Given the description of an element on the screen output the (x, y) to click on. 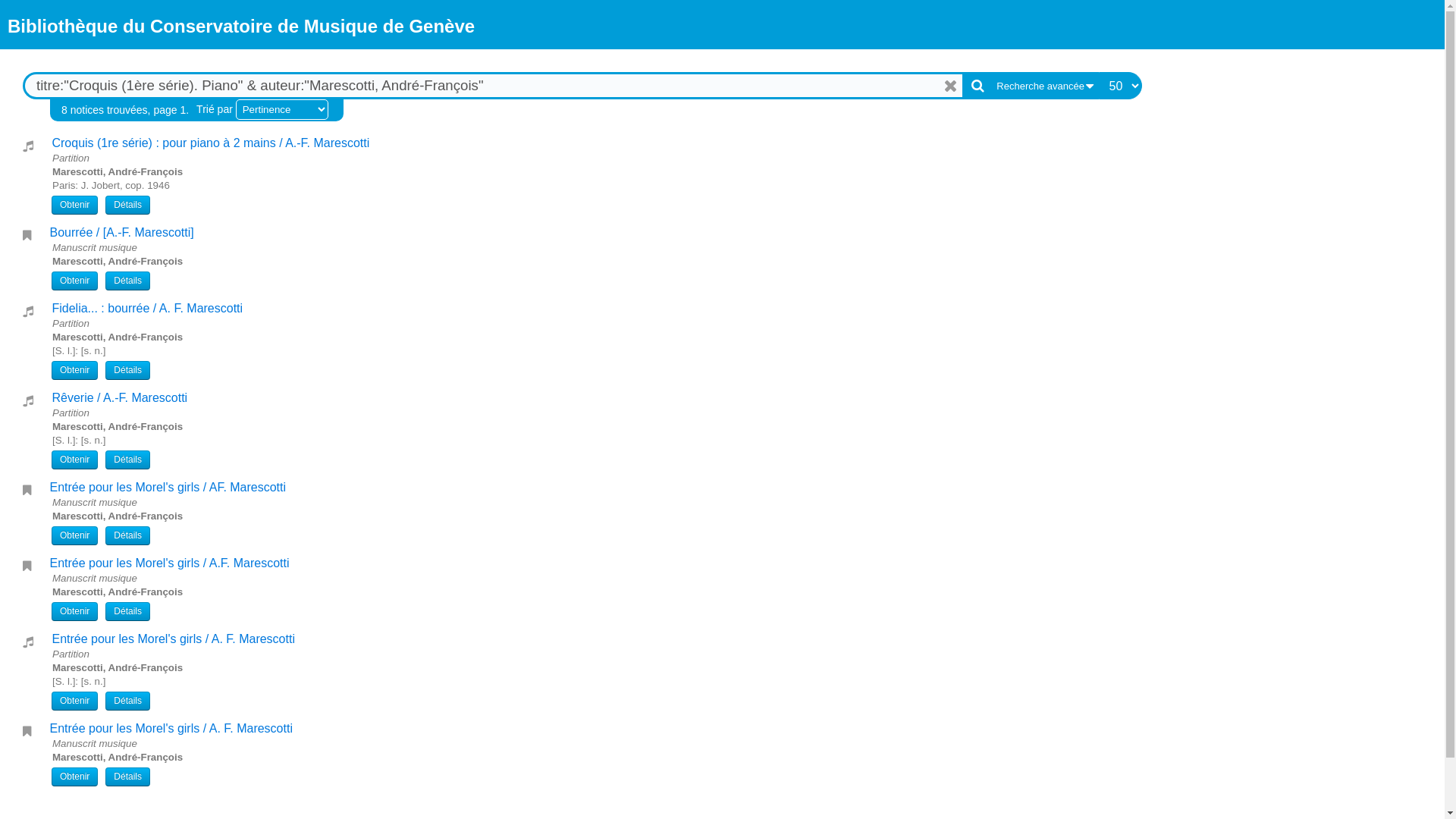
Manuscrit musique Element type: hover (26, 565)
Obtenir Element type: text (74, 459)
Obtenir Element type: text (74, 280)
Obtenir Element type: text (74, 369)
Partition Element type: hover (27, 310)
Obtenir Element type: text (74, 700)
Obtenir Element type: text (74, 776)
Obtenir Element type: text (74, 611)
Manuscrit musique Element type: hover (26, 235)
Manuscrit musique Element type: hover (26, 730)
Partition Element type: hover (27, 641)
Obtenir Element type: text (74, 204)
Nouvelle recherche Element type: hover (951, 85)
Partition Element type: hover (27, 400)
Manuscrit musique Element type: hover (26, 489)
Partition Element type: hover (27, 145)
Obtenir Element type: text (74, 535)
